Given the description of an element on the screen output the (x, y) to click on. 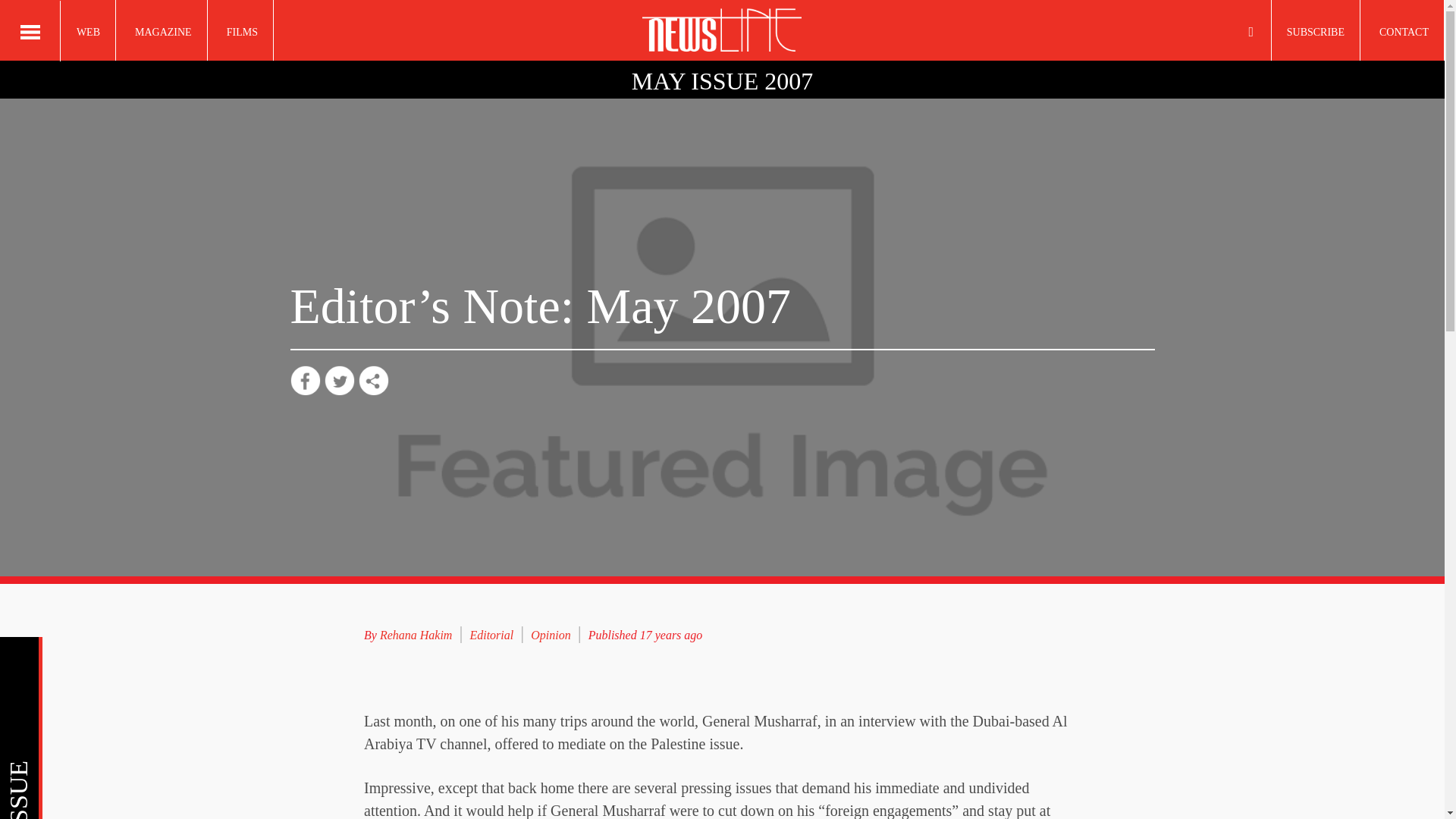
Newsline (722, 29)
Facebook (304, 380)
FILMS (242, 30)
SUBSCRIBE (1315, 30)
IN THIS ISSUE (207, 658)
WEB (88, 30)
Share (373, 380)
Twitter (339, 380)
MAGAZINE (163, 30)
